Given the description of an element on the screen output the (x, y) to click on. 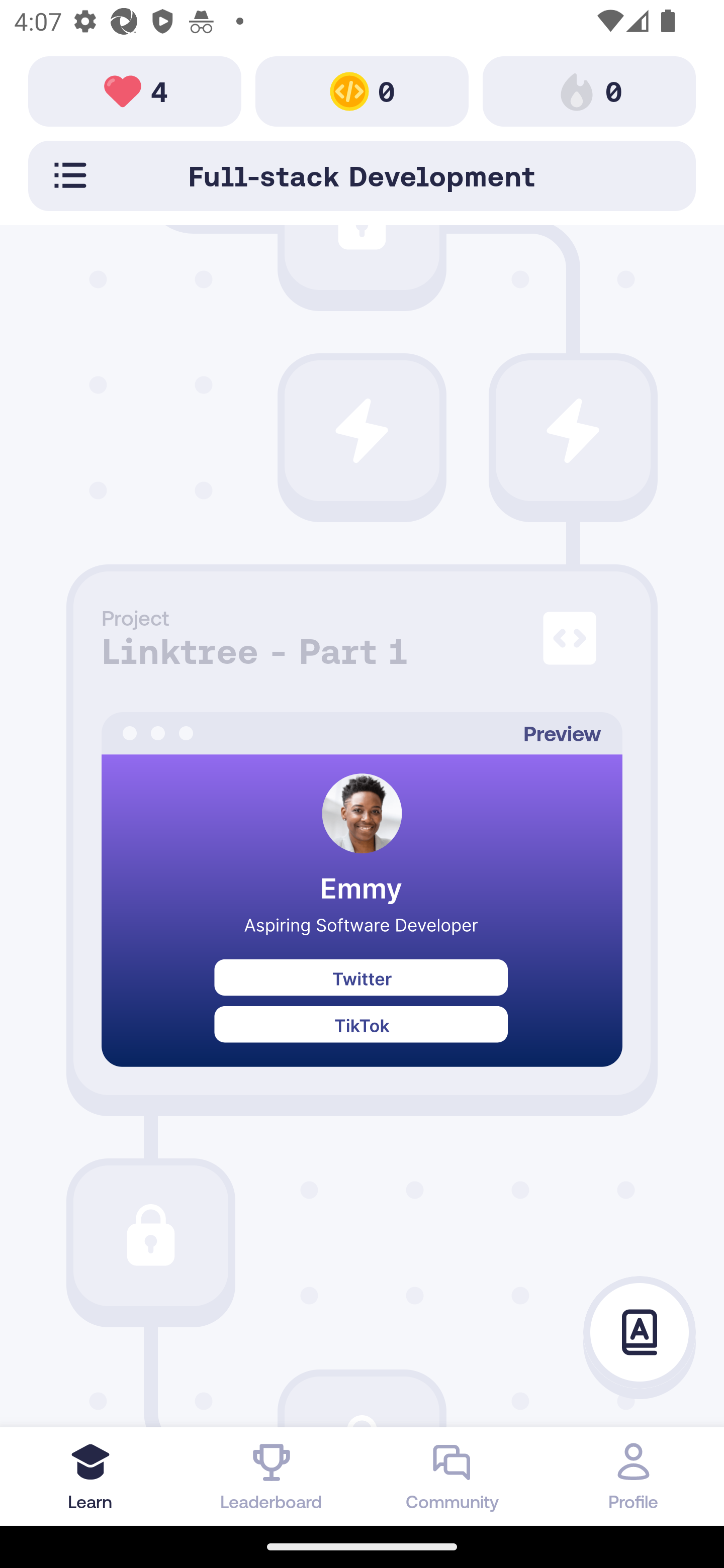
Path Toolbar Image 4 (134, 90)
Path Toolbar Image 0 (361, 90)
Path Toolbar Image 0 (588, 90)
Path Toolbar Selector Full-stack Development (361, 175)
Glossary Icon (639, 1332)
Leaderboard (271, 1475)
Community (452, 1475)
Profile (633, 1475)
